Given the description of an element on the screen output the (x, y) to click on. 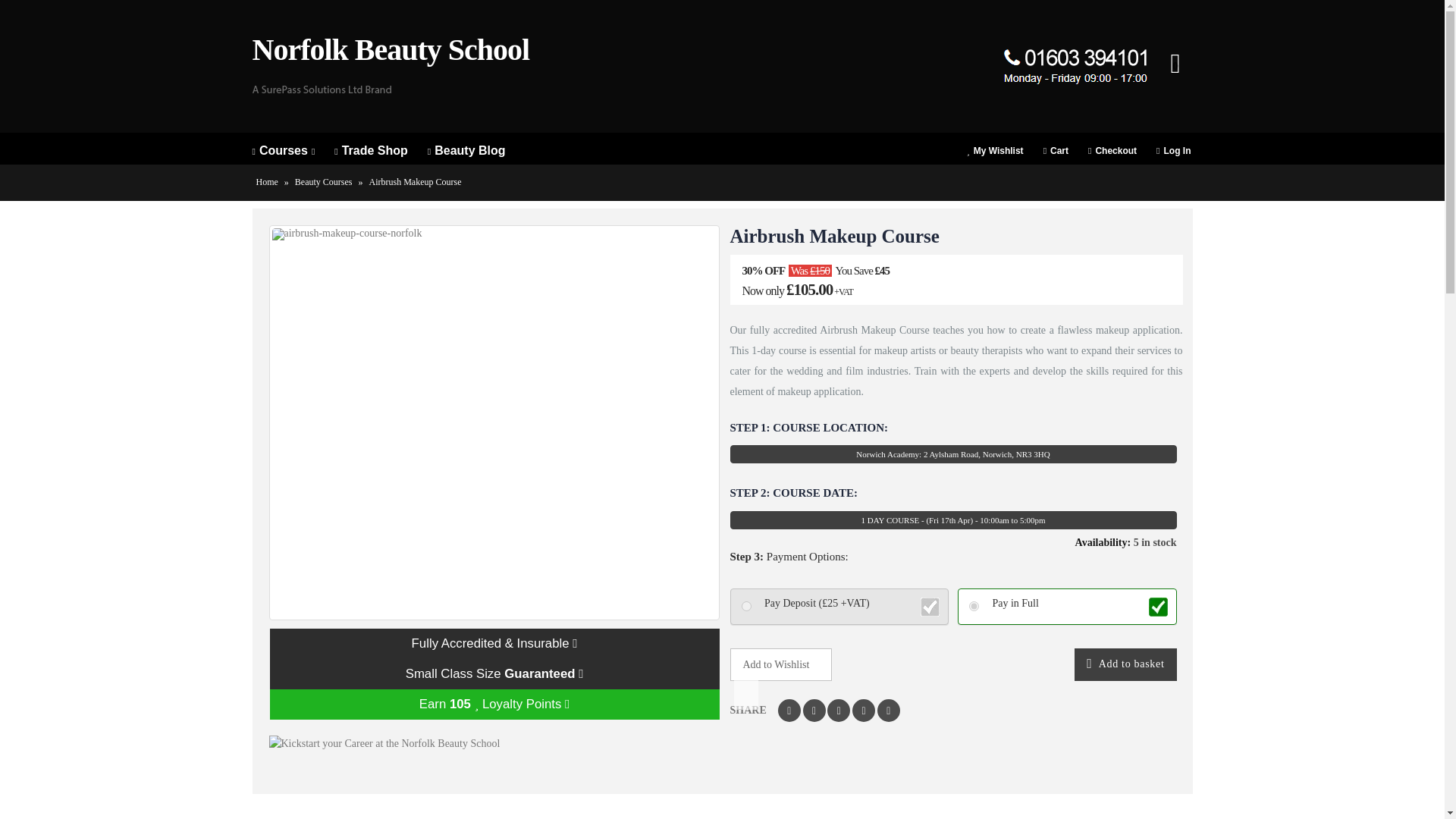
no (973, 605)
yes (746, 605)
Norfolk Beauty School - Welcome to Norfolk Beauty School (390, 66)
Norfolk Beauty School (390, 66)
Courses (292, 150)
